Given the description of an element on the screen output the (x, y) to click on. 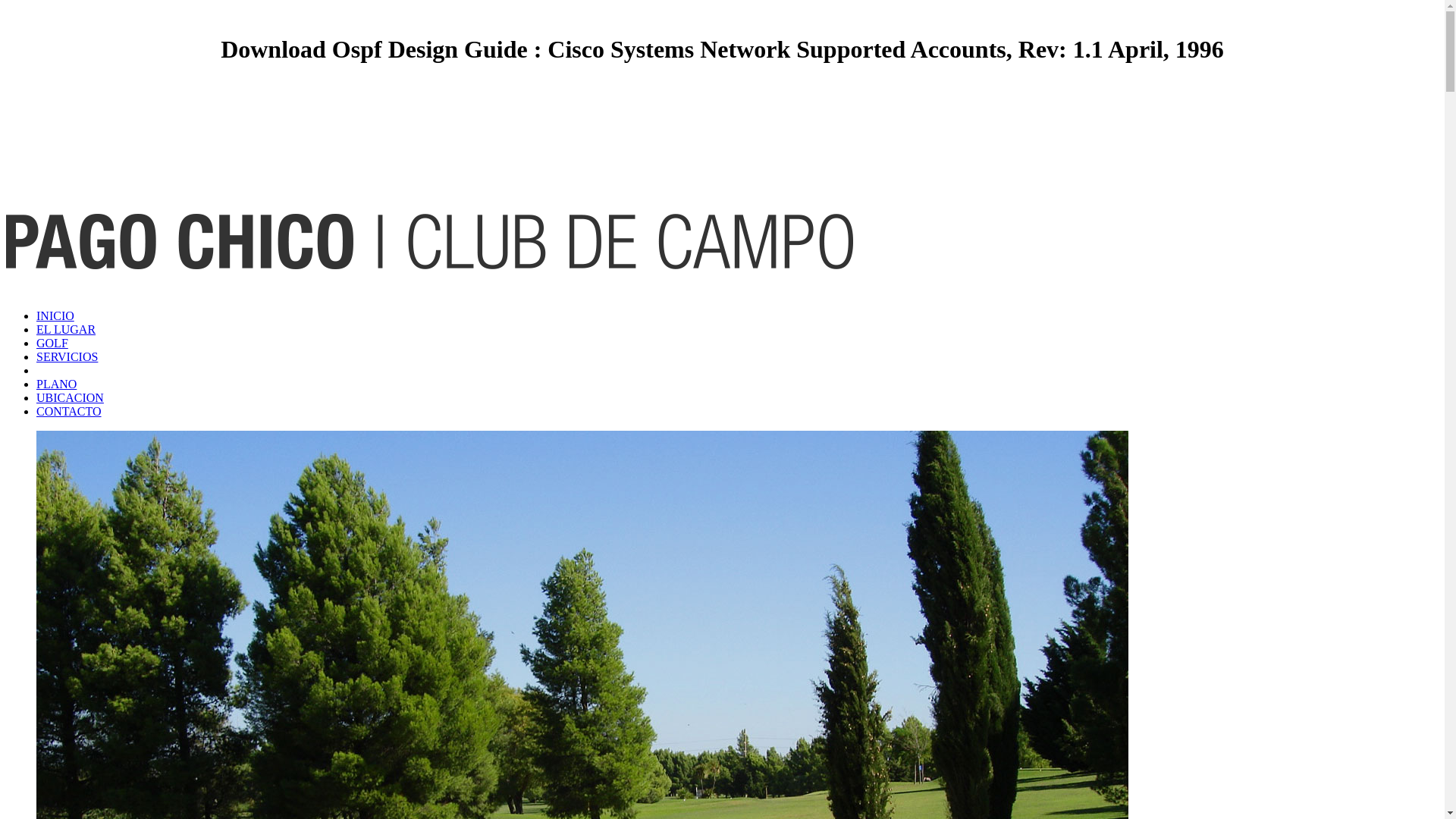
INICIO (55, 315)
CONTACTO (68, 410)
GOLF (52, 342)
UBICACION (69, 397)
SERVICIOS (66, 356)
PLANO (56, 383)
EL LUGAR (66, 328)
